Given the description of an element on the screen output the (x, y) to click on. 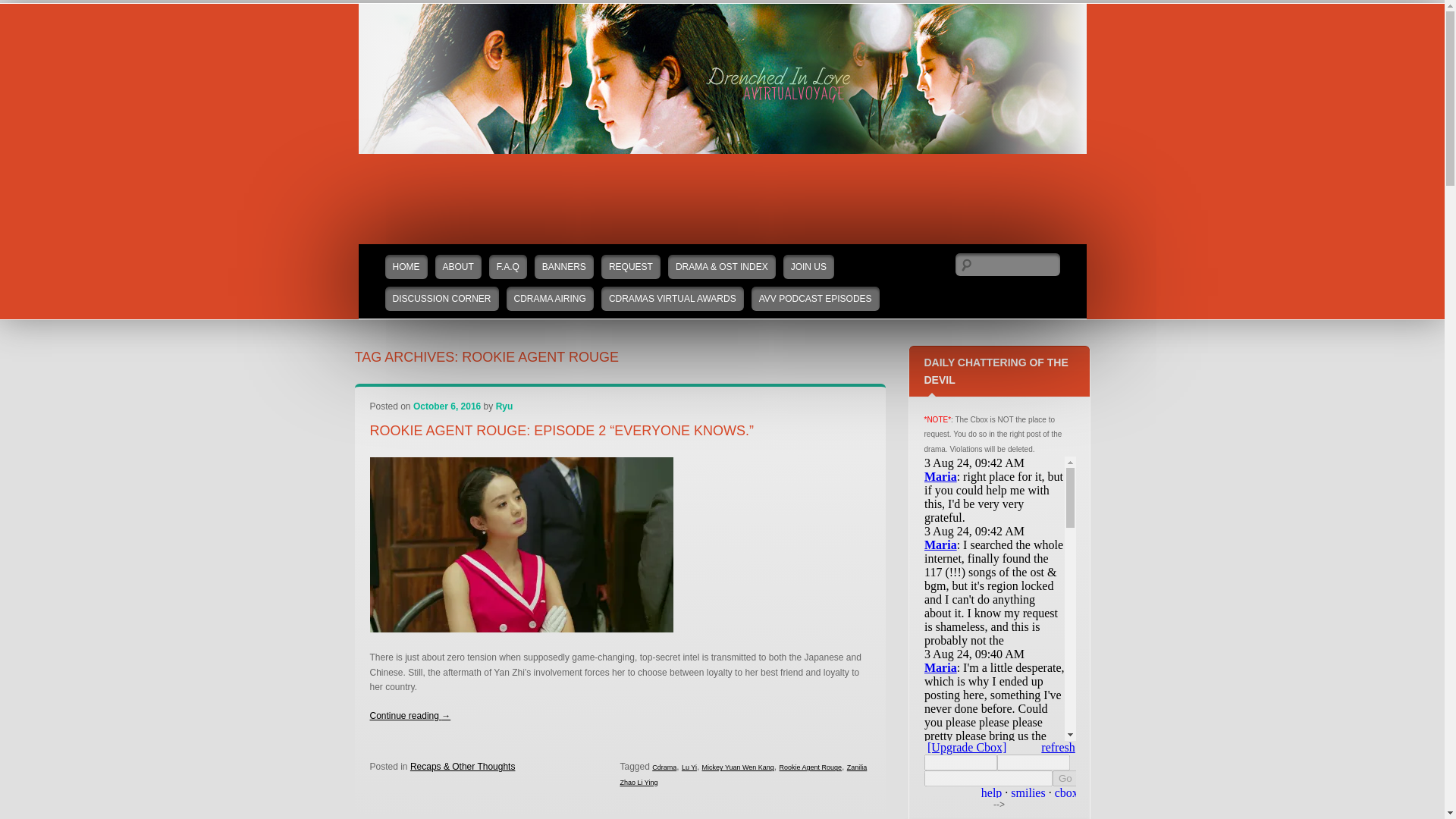
REQUEST (631, 266)
Skip to secondary content (410, 251)
DISCUSSION CORNER (442, 298)
ABOUT (458, 266)
F.A.Q (508, 266)
12:23 pm (446, 406)
CDRAMA AIRING (550, 298)
View all posts by Ryu (504, 406)
Skip to primary content (404, 251)
JOIN US (808, 266)
HOME (406, 266)
BANNERS (564, 266)
